Given the description of an element on the screen output the (x, y) to click on. 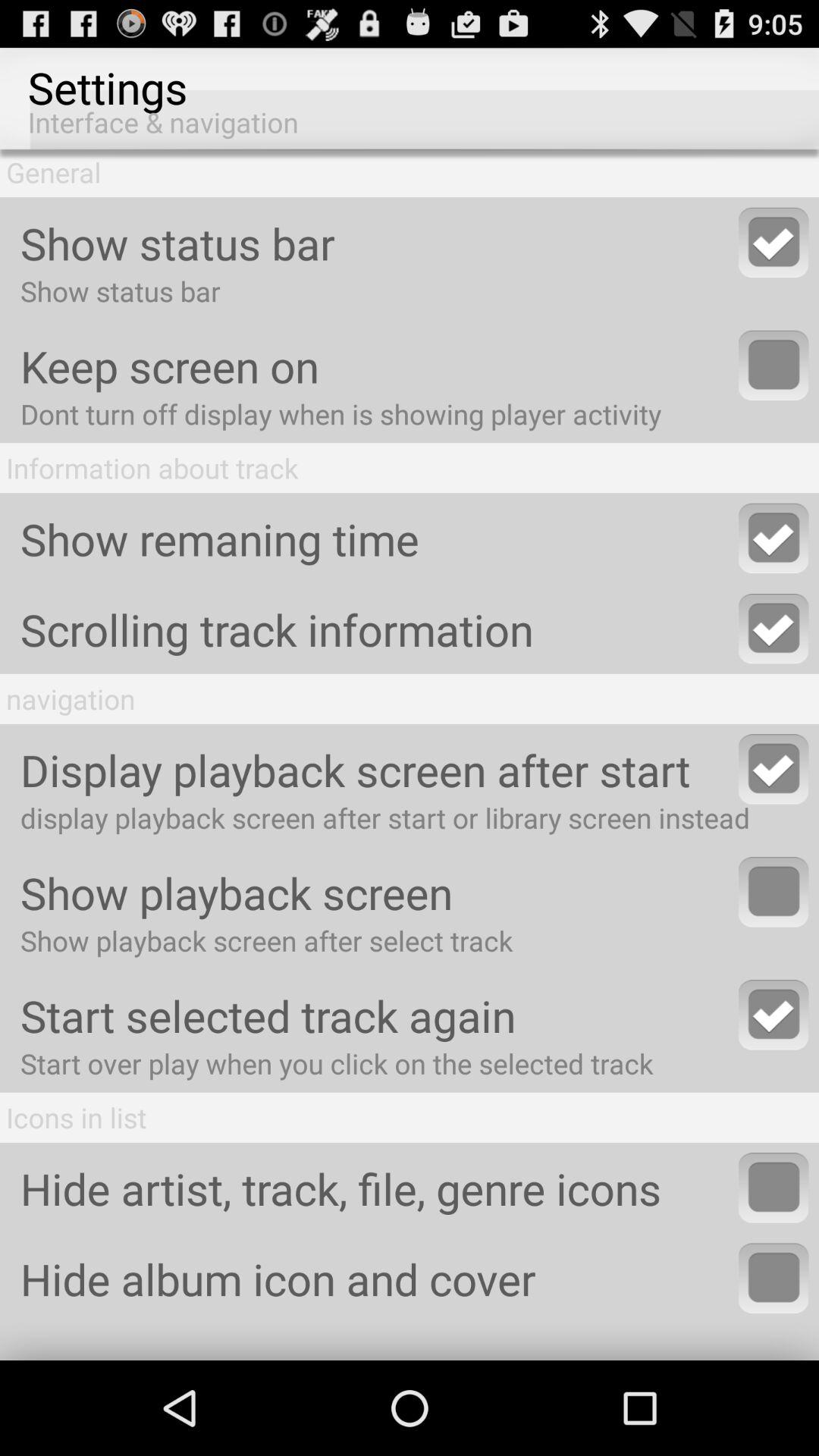
deselect option (773, 242)
